Given the description of an element on the screen output the (x, y) to click on. 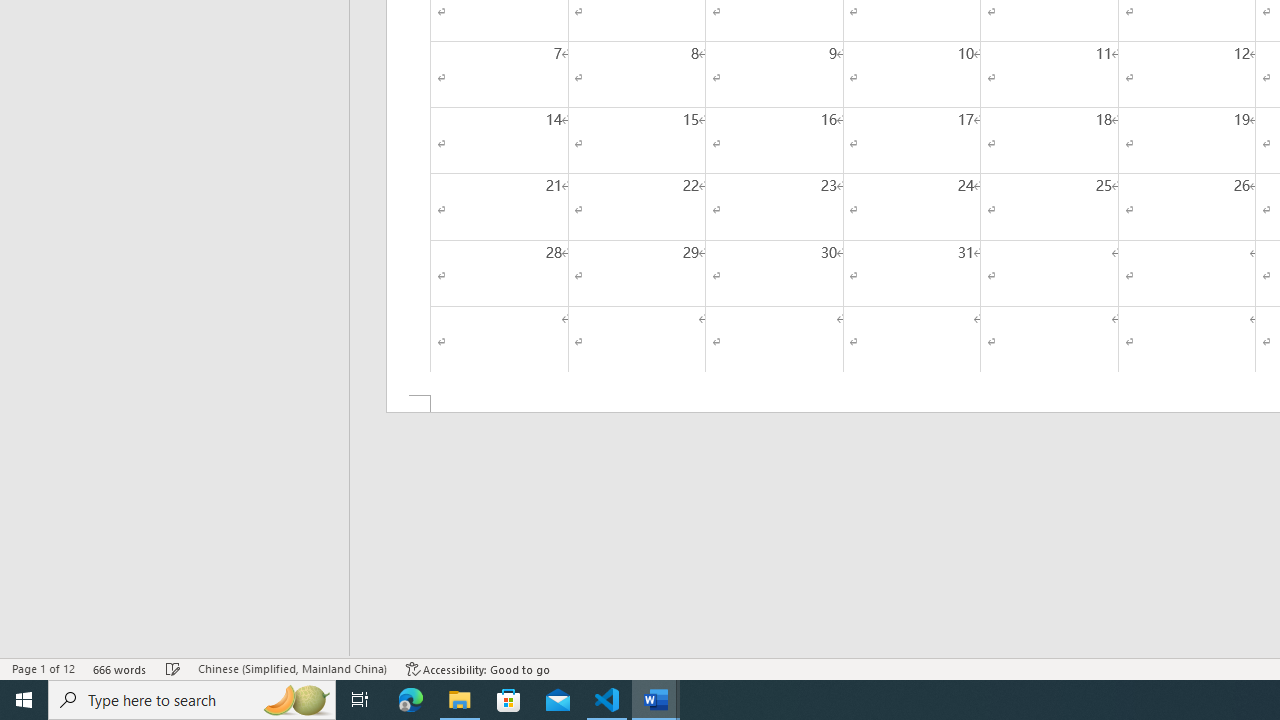
Word - 2 running windows (656, 699)
Microsoft Edge (411, 699)
Page Number Page 1 of 12 (43, 668)
Word Count 666 words (119, 668)
File Explorer - 1 running window (460, 699)
